Given the description of an element on the screen output the (x, y) to click on. 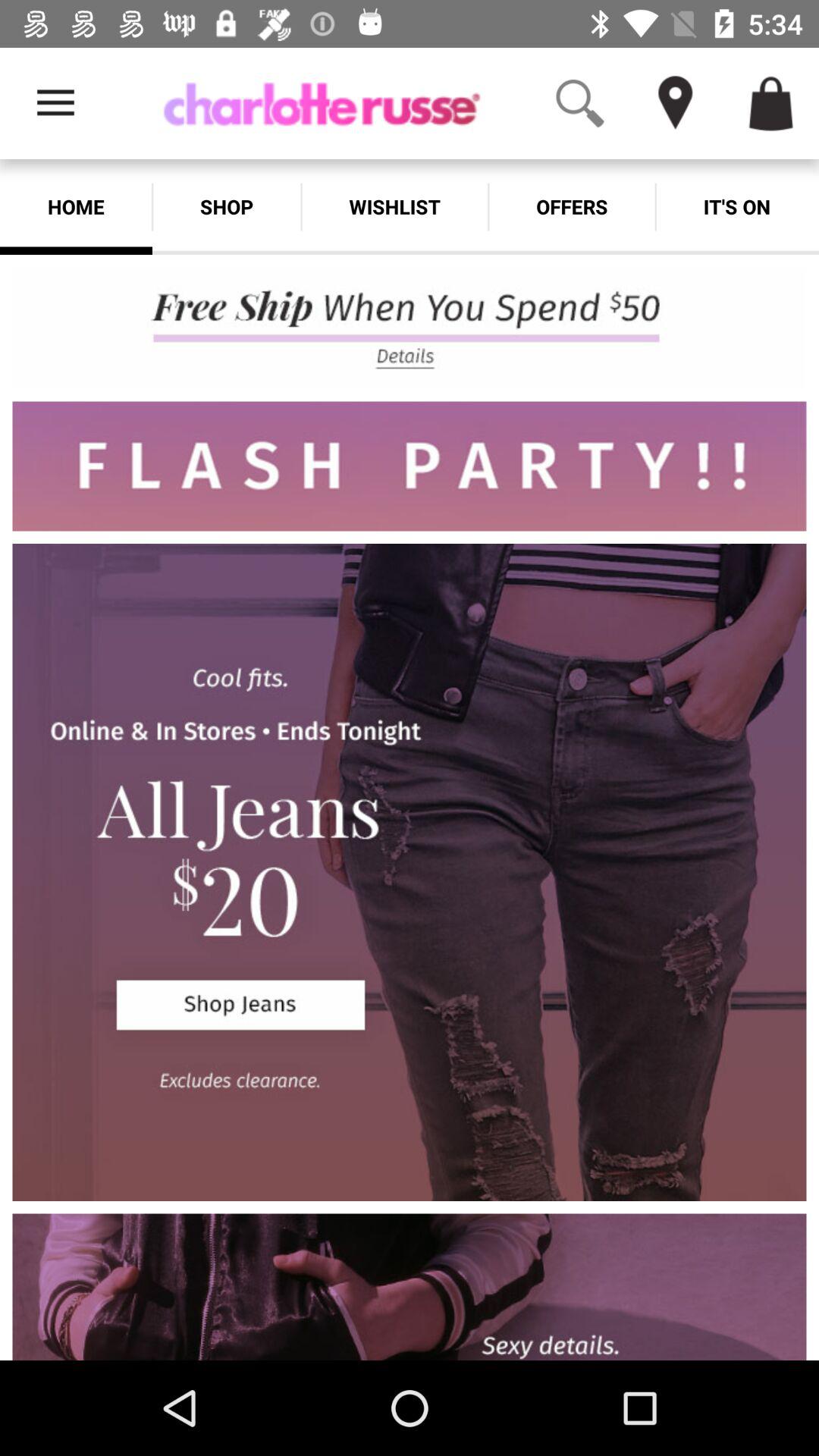
show shopping cart (771, 103)
